Given the description of an element on the screen output the (x, y) to click on. 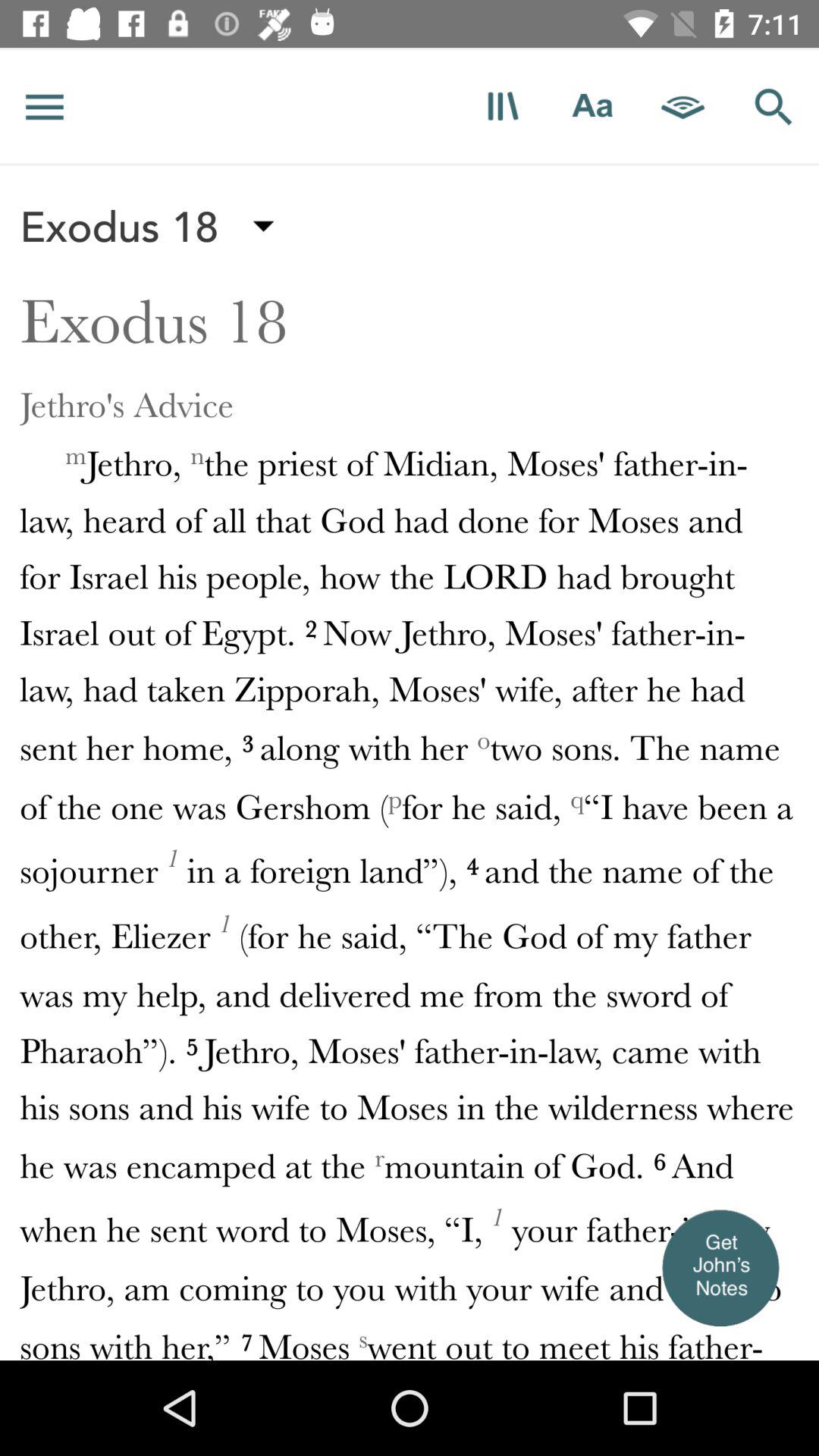
search page (773, 106)
